Given the description of an element on the screen output the (x, y) to click on. 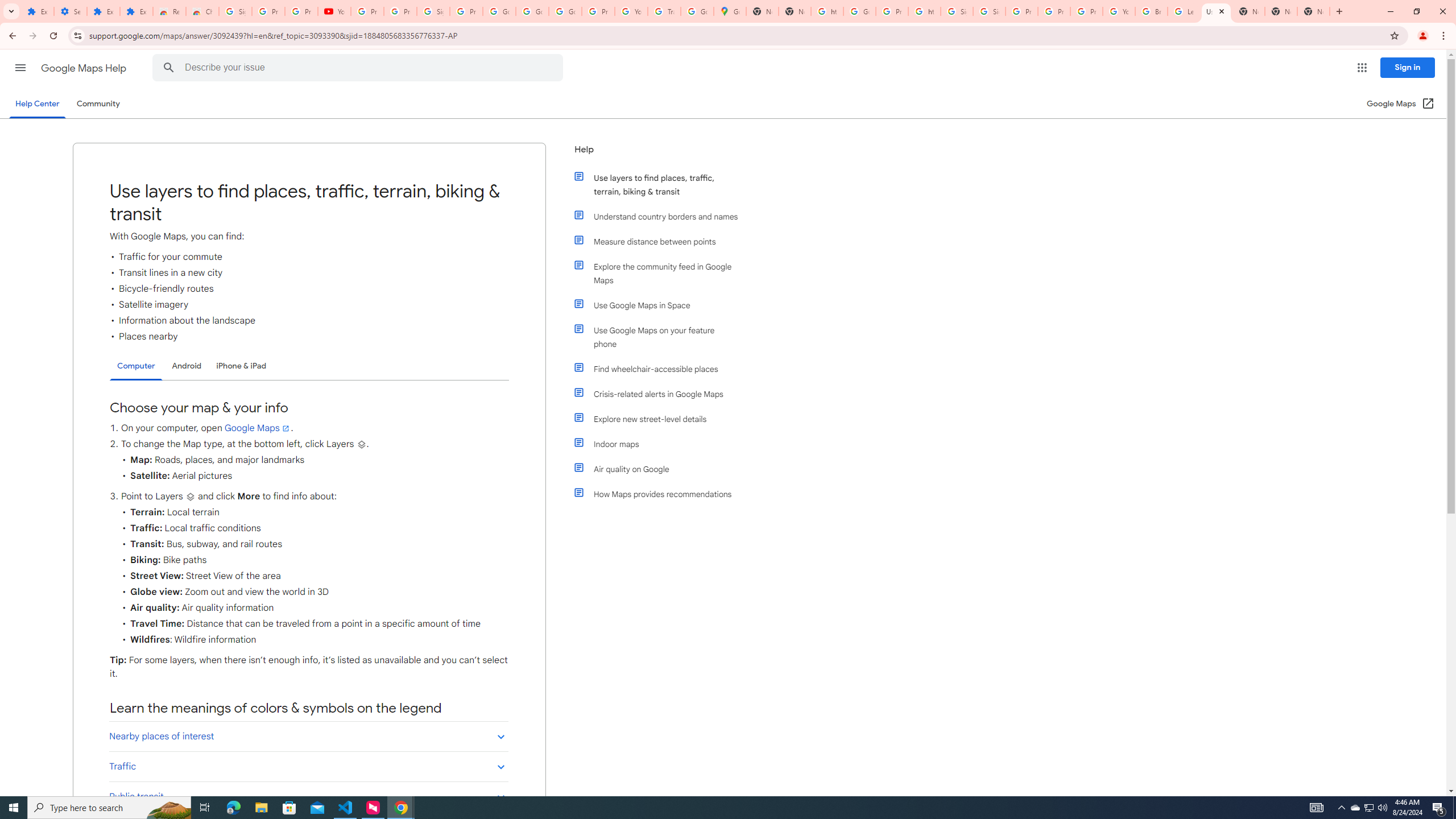
Use Google Maps in Space (661, 305)
Help Center (36, 103)
Help (656, 153)
Nearby places of interest (308, 736)
Main menu (20, 67)
New Tab (1338, 11)
Privacy Help Center - Policies Help (1053, 11)
